Given the description of an element on the screen output the (x, y) to click on. 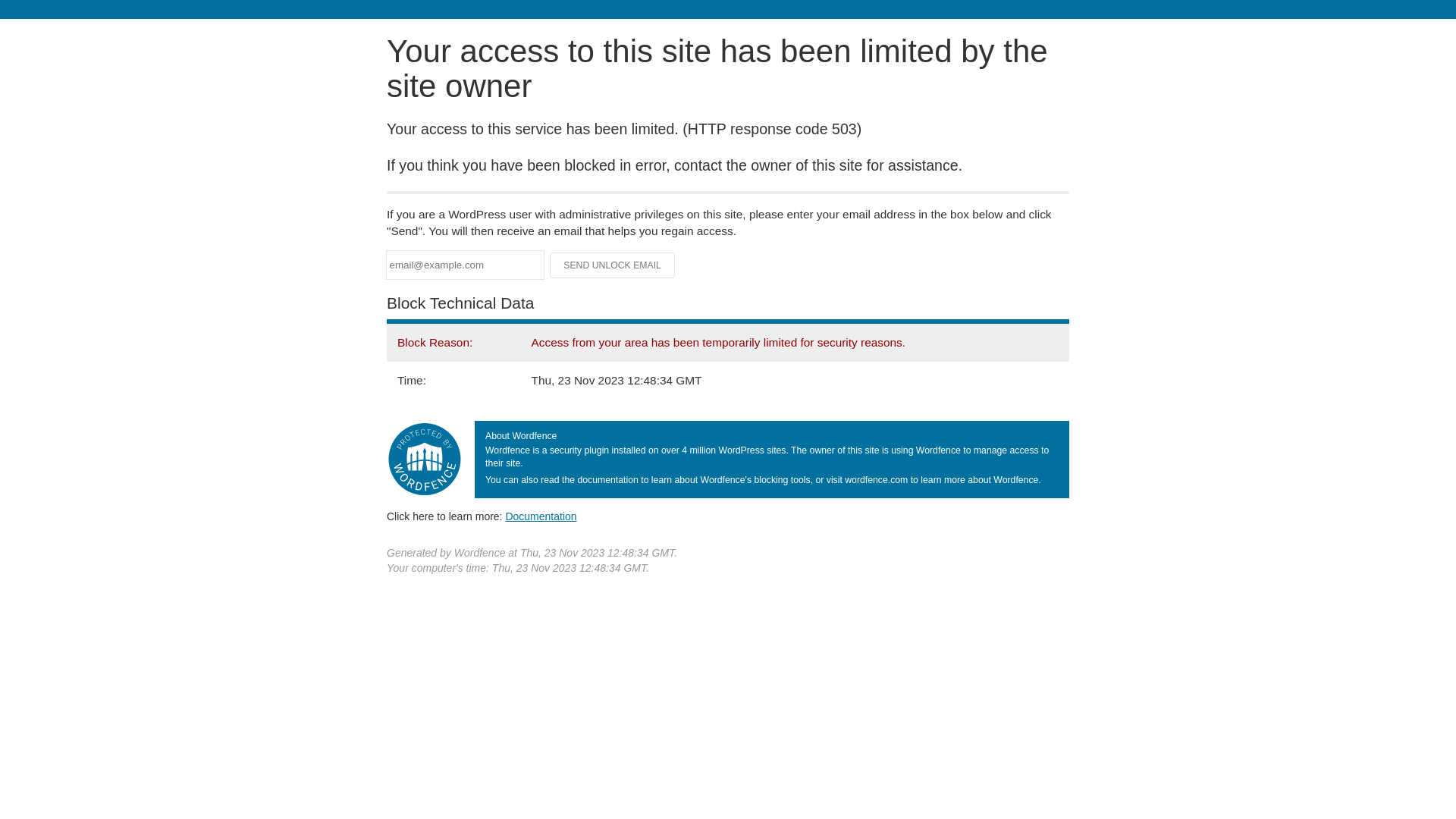
Send Unlock Email Element type: text (612, 265)
Documentation Element type: text (540, 516)
